Given the description of an element on the screen output the (x, y) to click on. 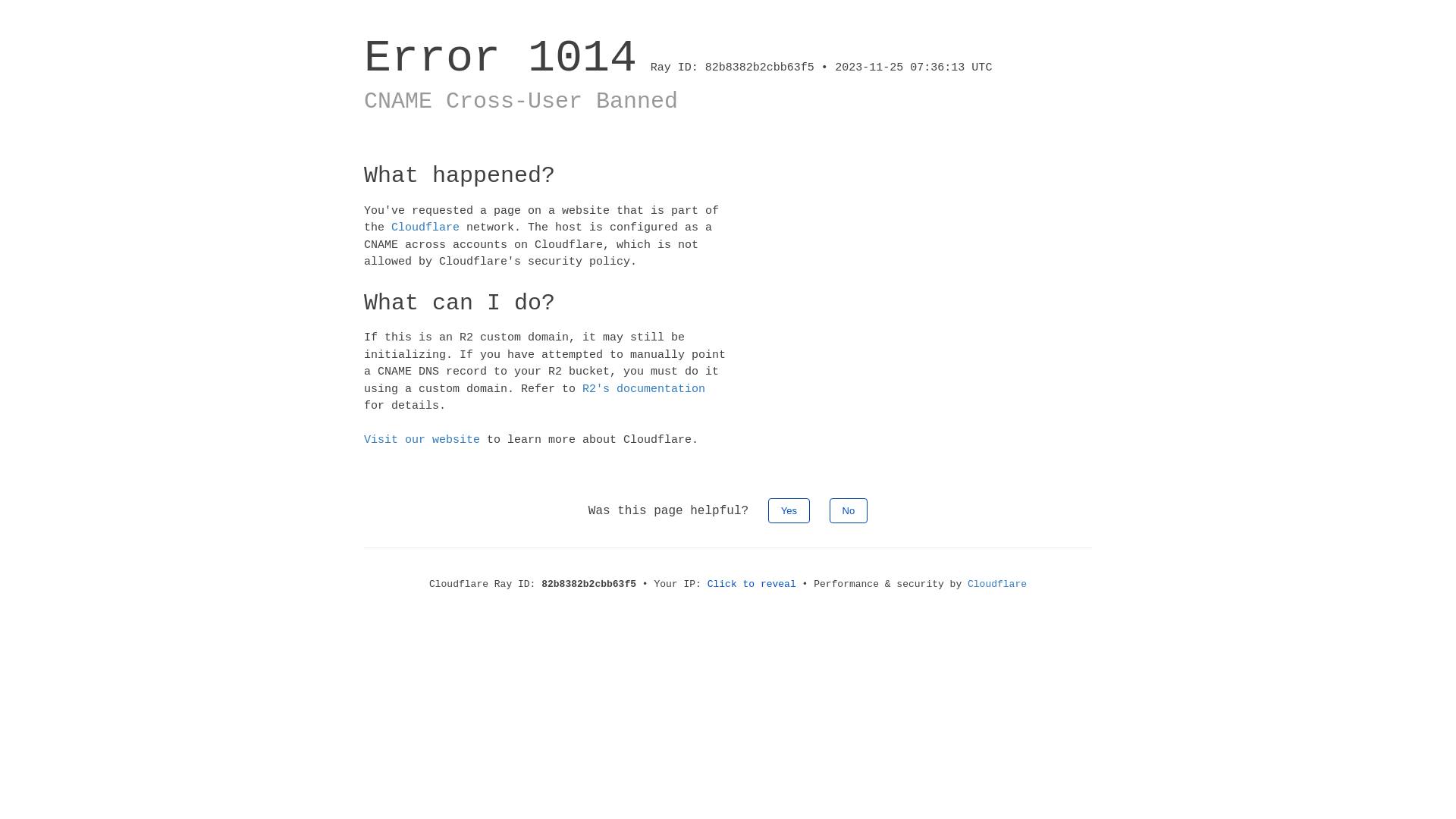
Yes Element type: text (788, 509)
Cloudflare Element type: text (996, 583)
Visit our website Element type: text (422, 439)
Cloudflare Element type: text (425, 227)
R2's documentation Element type: text (643, 388)
Click to reveal Element type: text (751, 583)
No Element type: text (848, 509)
